Given the description of an element on the screen output the (x, y) to click on. 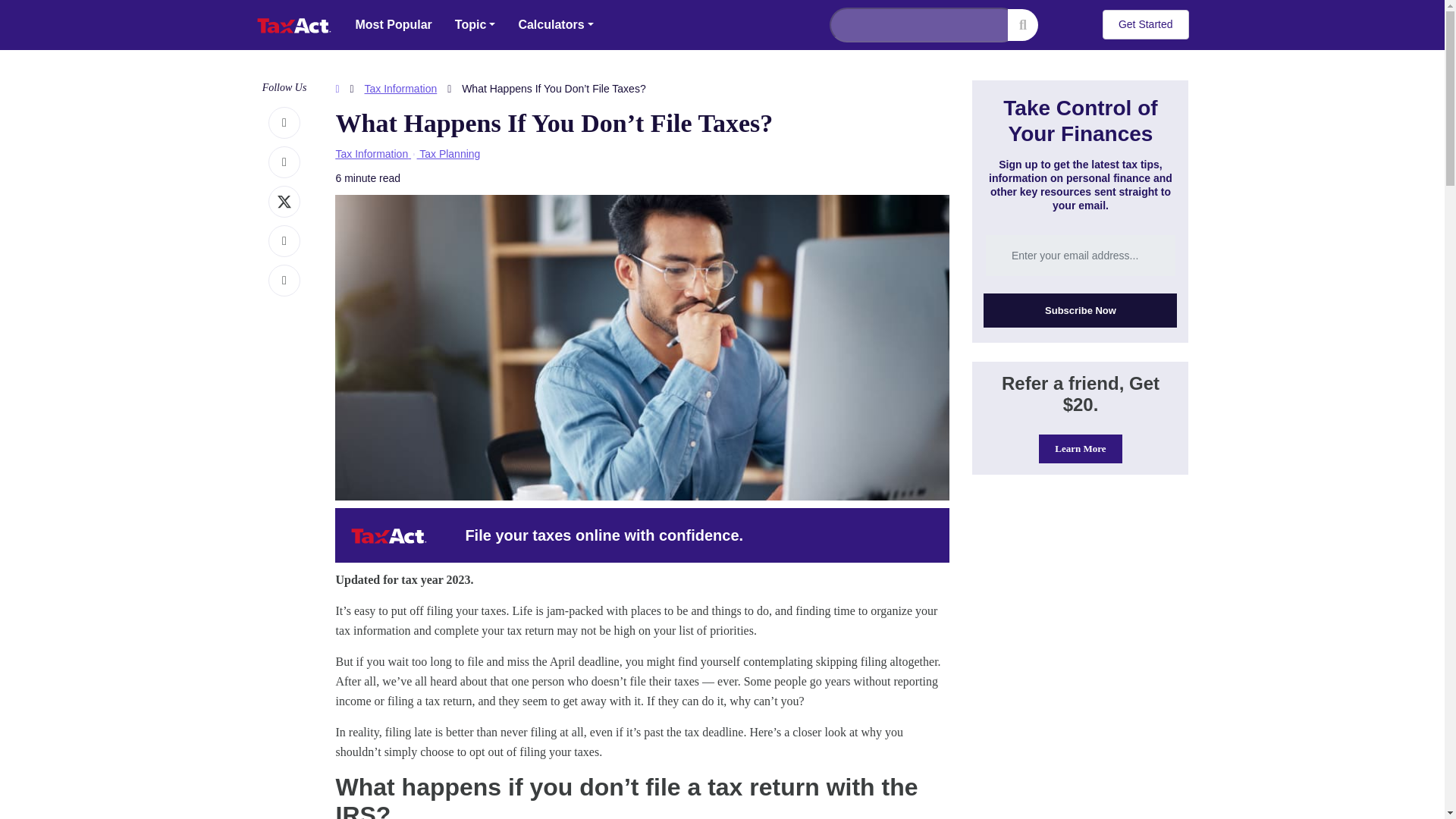
Tax Planning (449, 153)
Youtube (284, 280)
Topic (475, 24)
Get Started (1145, 24)
Most Popular (393, 24)
Subscribe Now (1080, 310)
Facebook (284, 122)
Linkedin (284, 240)
Tax Information (401, 88)
Tax Information (370, 153)
Instagram (284, 161)
Calculators (555, 24)
